Given the description of an element on the screen output the (x, y) to click on. 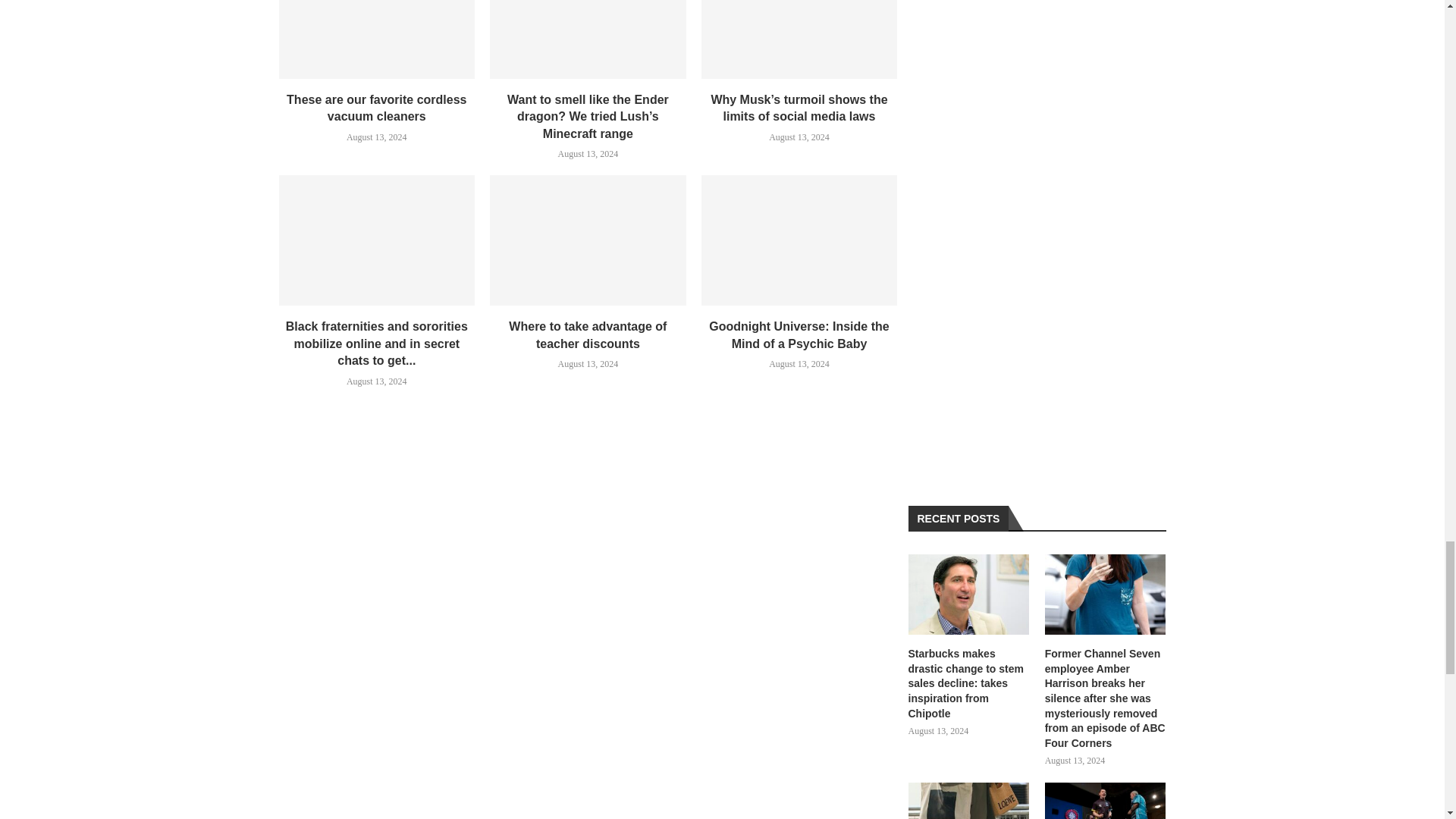
Goodnight Universe: Inside the Mind of a Psychic Baby (799, 240)
These are our favorite cordless vacuum cleaners (377, 39)
Where to take advantage of teacher discounts (587, 240)
